Given the description of an element on the screen output the (x, y) to click on. 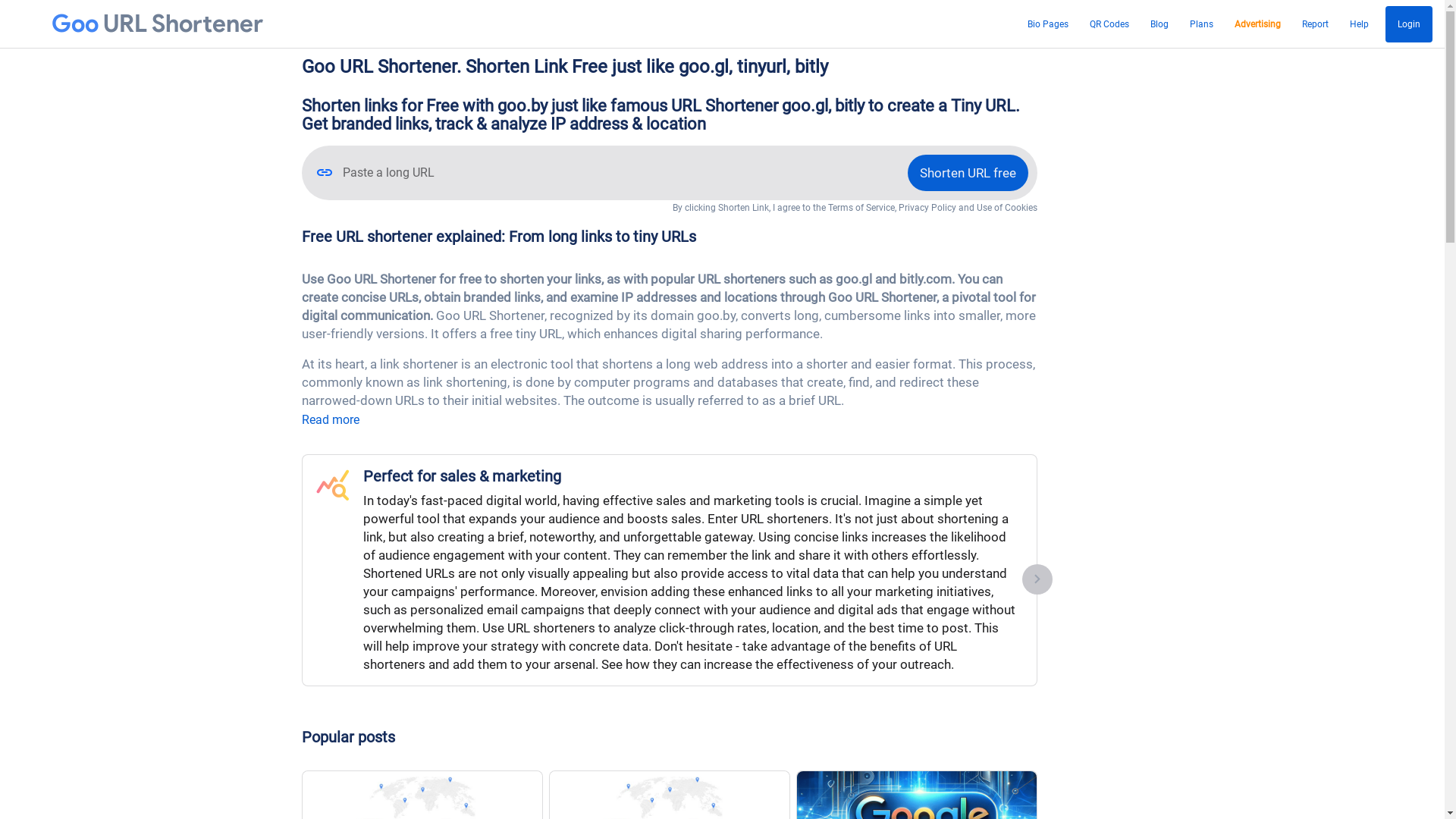
Blog Element type: text (1159, 24)
Bio Pages Element type: text (1047, 24)
Help Element type: text (1359, 24)
Shorten URL free Element type: text (966, 172)
QR Codes Element type: text (1109, 24)
Read more Element type: text (330, 419)
Plans Element type: text (1201, 24)
Advertising Element type: text (1257, 24)
Login Element type: text (1408, 24)
Report Element type: text (1315, 24)
